Given the description of an element on the screen output the (x, y) to click on. 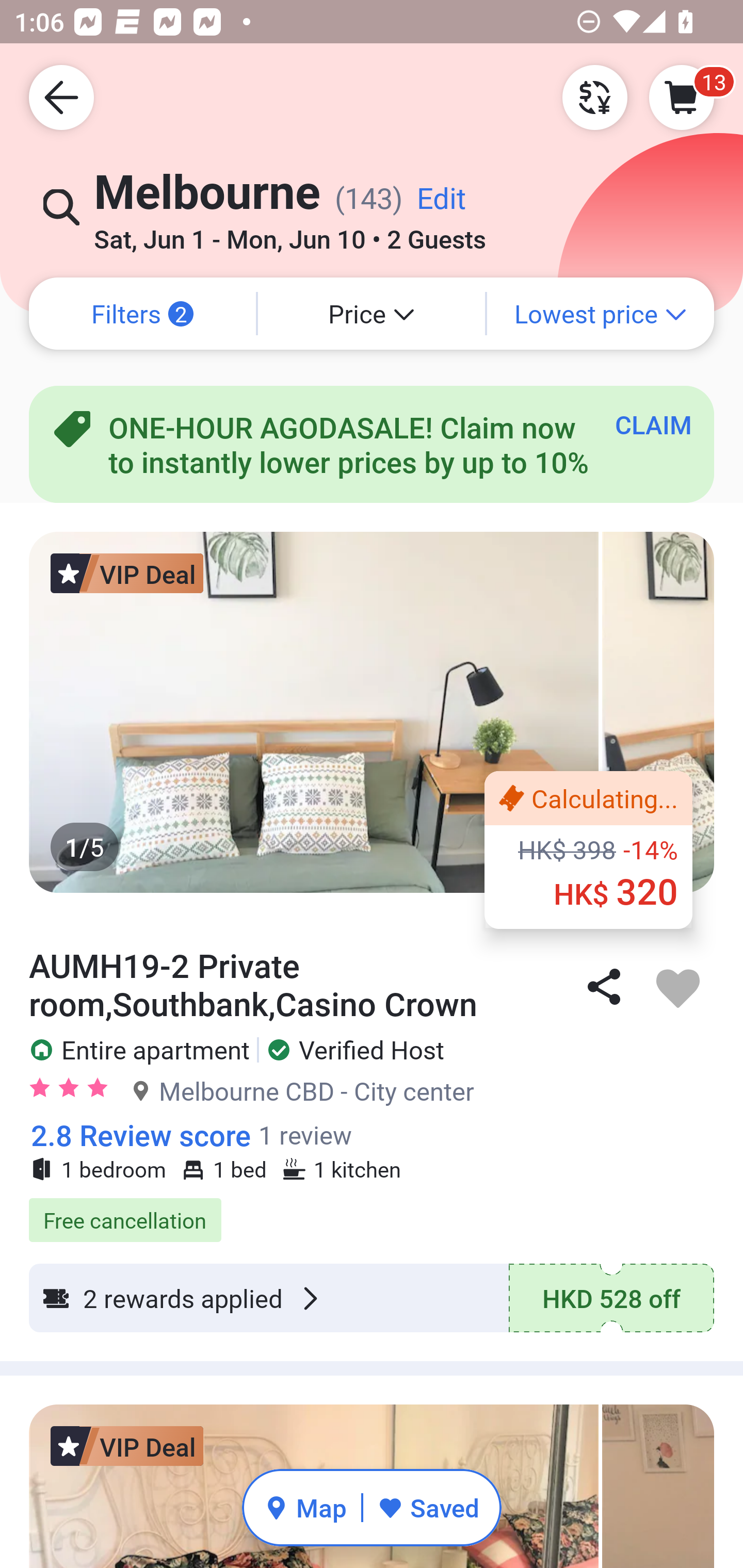
Sat, Jun 1 - Mon, Jun 10 • 2 Guests (289, 232)
Filters 2 (141, 313)
Price (371, 313)
Lowest price (600, 313)
CLAIM (653, 424)
VIP Deal (126, 572)
1/5 (371, 711)
Calculating... ‪HK$ 398 -14% ‪HK$ 320 (588, 849)
Free cancellation (371, 1209)
2 rewards applied HKD 528 off (371, 1298)
VIP Deal (126, 1446)
Map (305, 1507)
Saved (428, 1507)
